Given the description of an element on the screen output the (x, y) to click on. 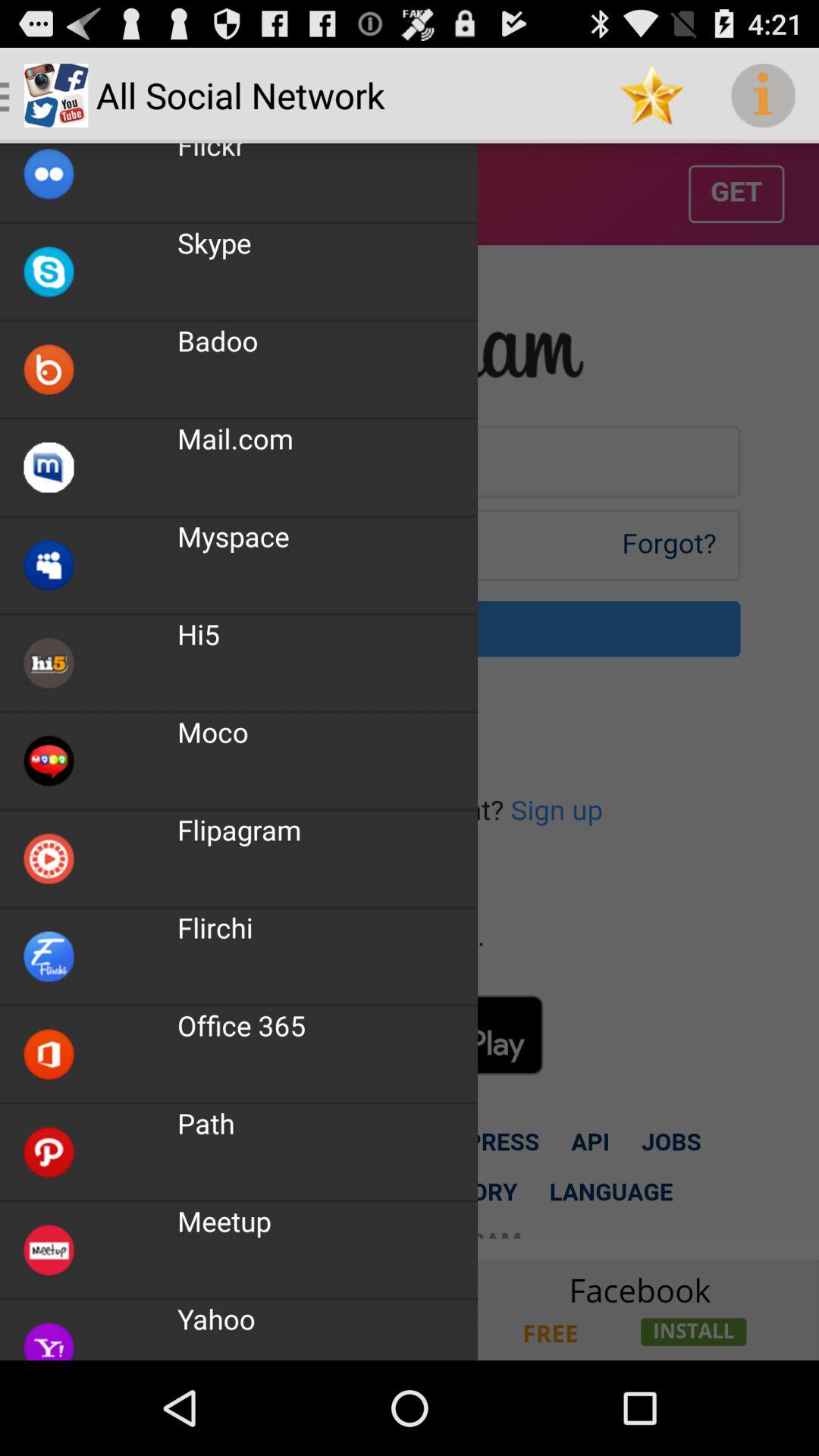
choose item above the flipagram icon (212, 731)
